Given the description of an element on the screen output the (x, y) to click on. 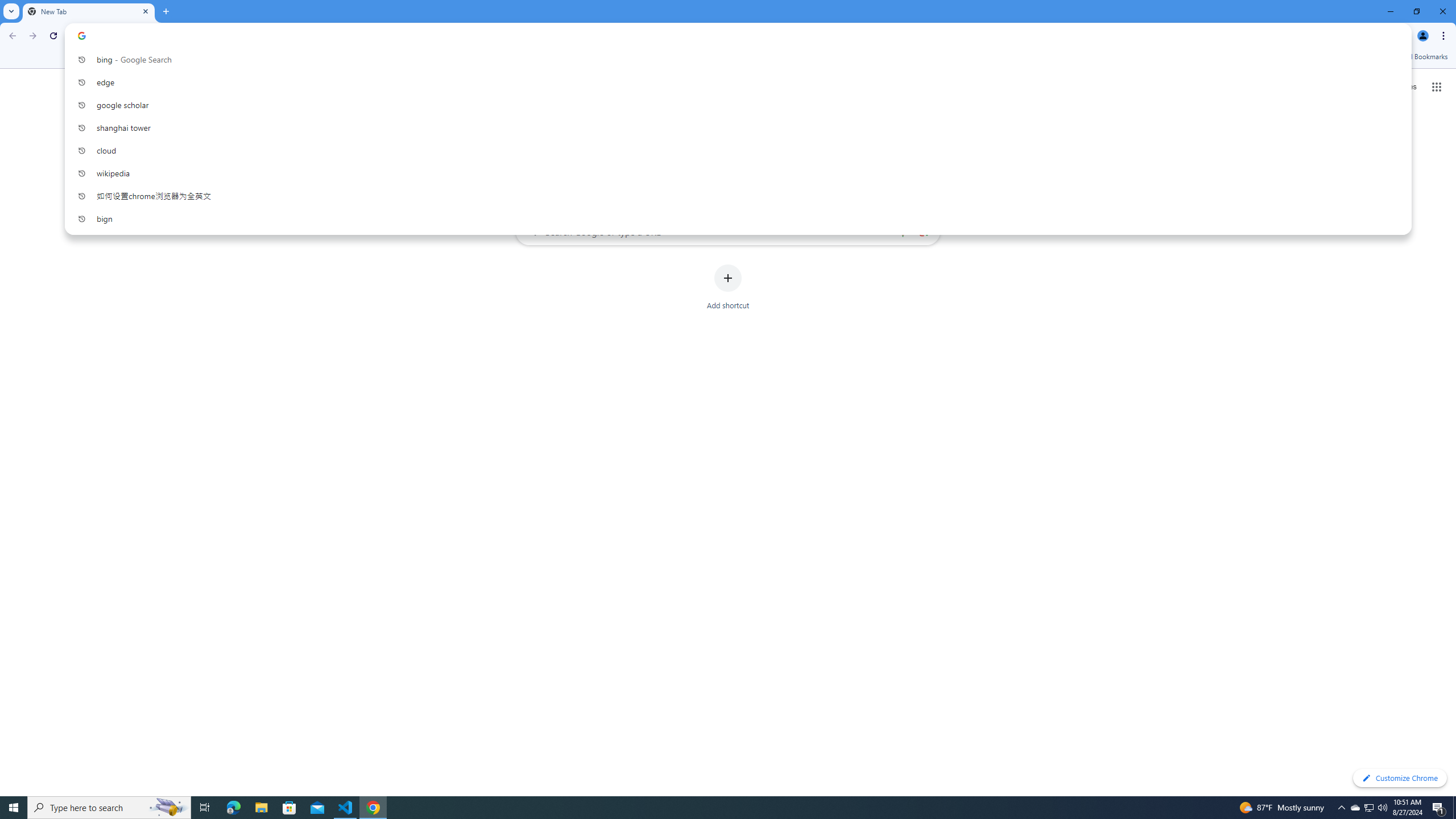
cloud search from history (733, 150)
Bookmarks (728, 58)
Add shortcut (727, 287)
wikipedia search from history (733, 173)
shanghai tower search from history (733, 127)
Search icon (81, 35)
bign search from history (733, 218)
Search Google or type a URL (727, 230)
New Tab (88, 11)
